Given the description of an element on the screen output the (x, y) to click on. 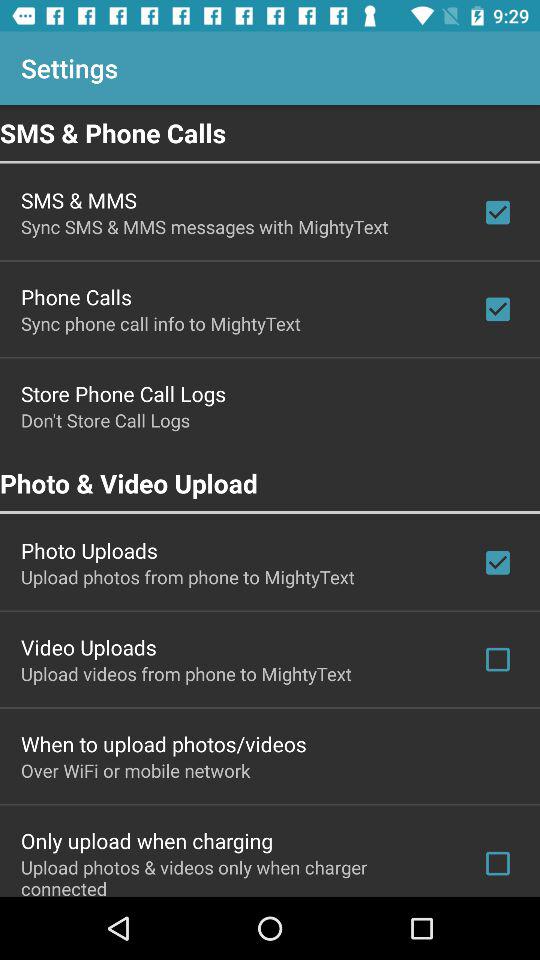
tap item below the upload photos from app (88, 647)
